Given the description of an element on the screen output the (x, y) to click on. 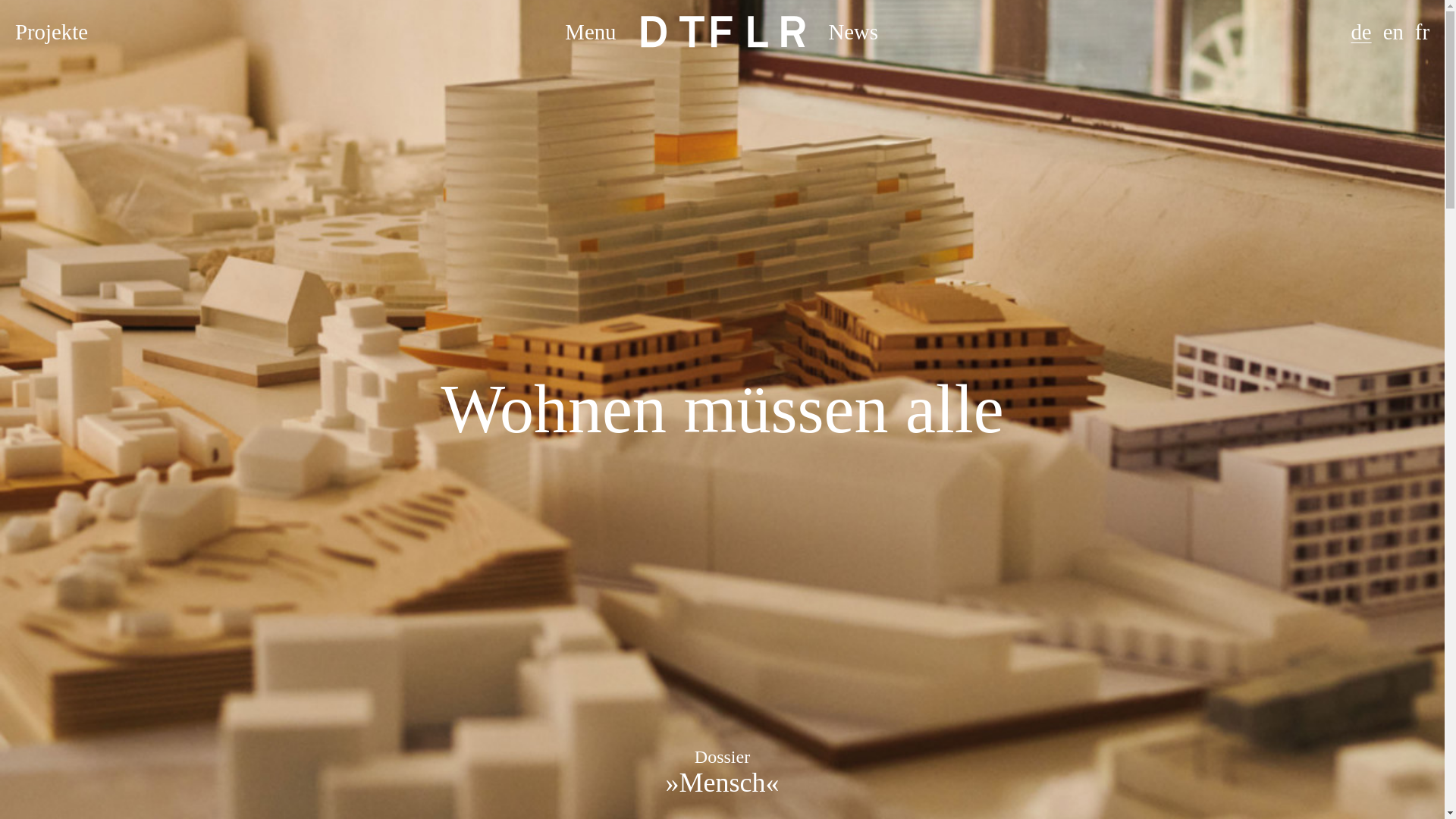
Projekte (50, 31)
